Given the description of an element on the screen output the (x, y) to click on. 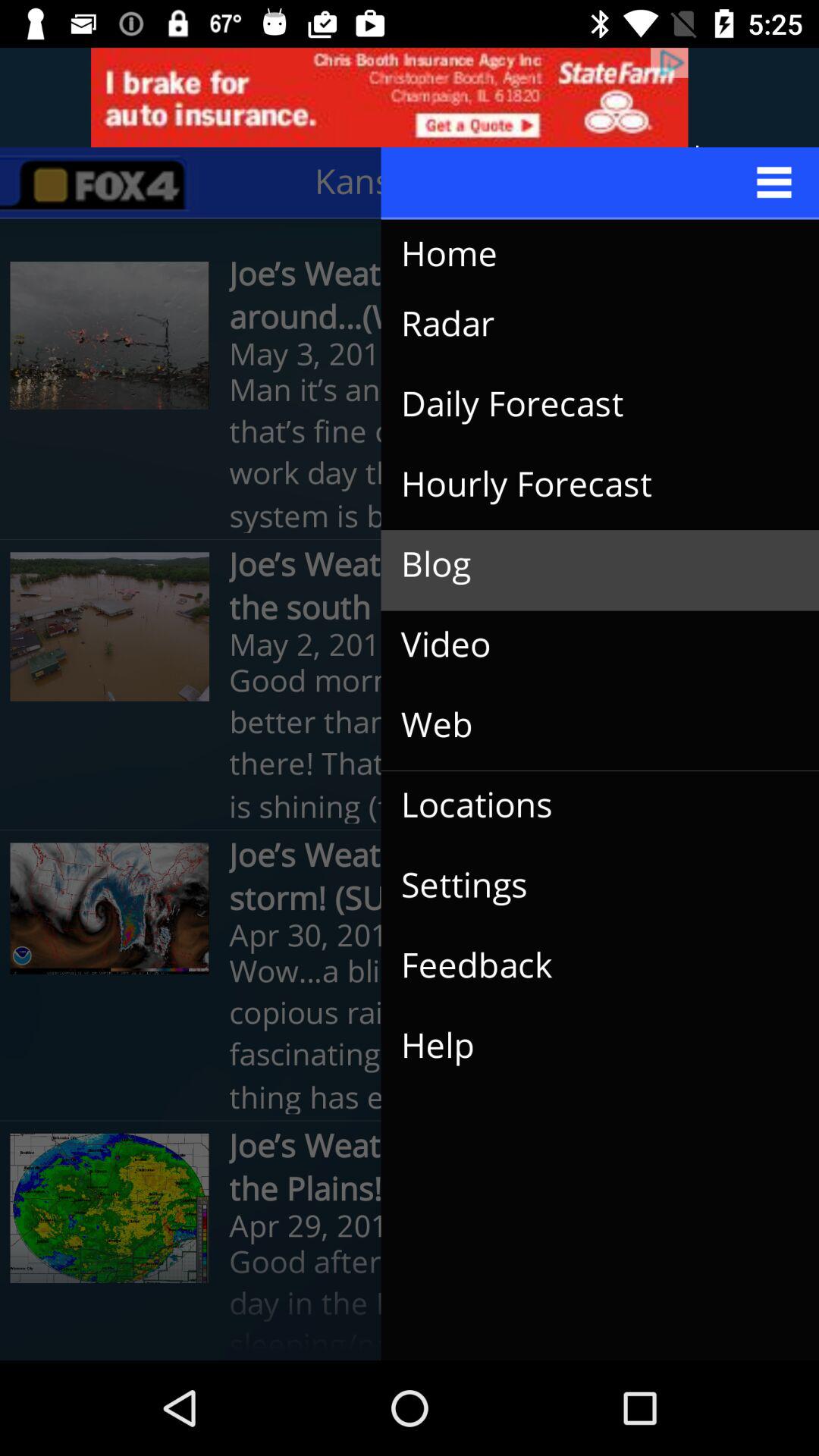
turn on icon below the joe s weather (587, 965)
